Given the description of an element on the screen output the (x, y) to click on. 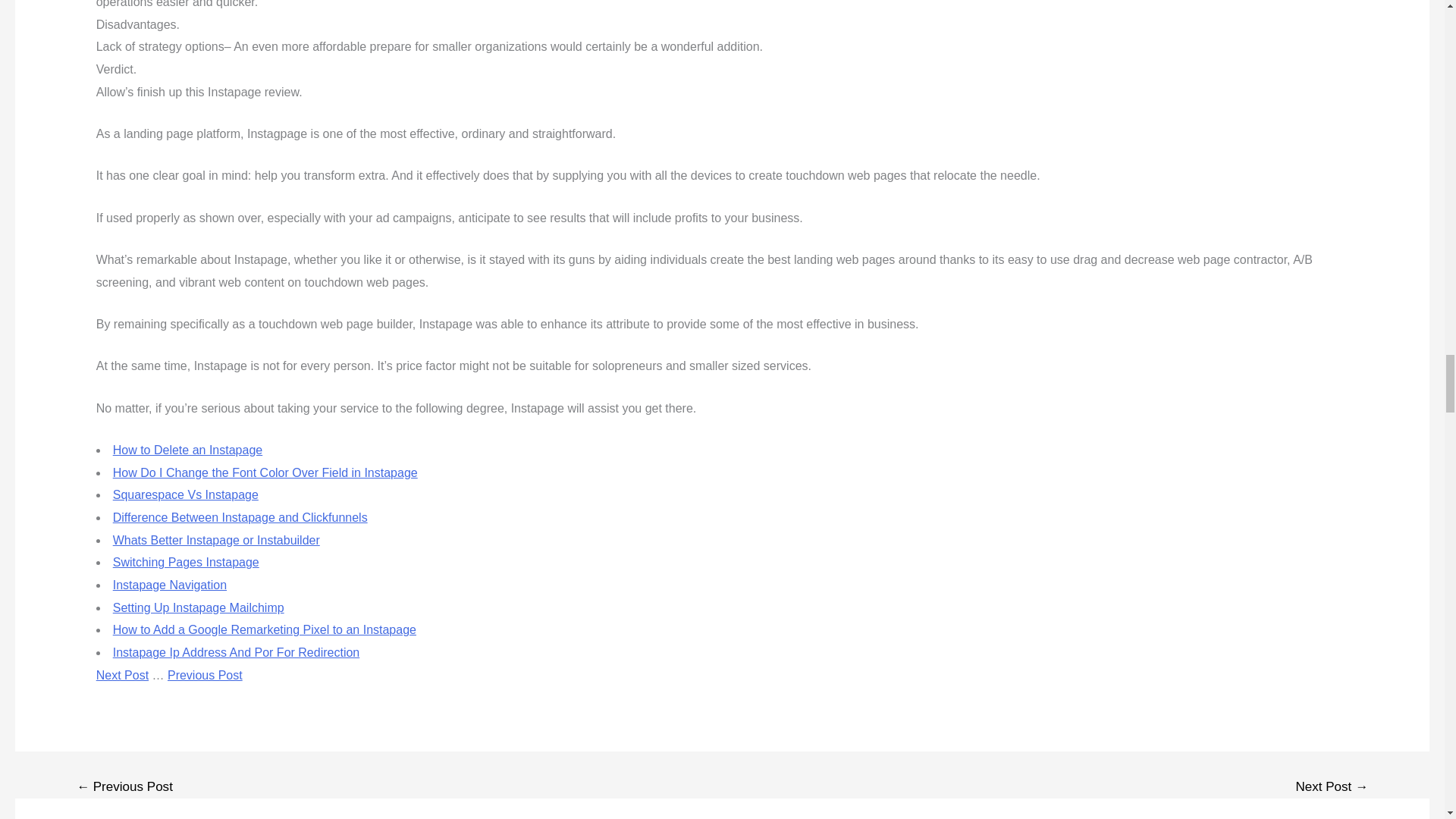
Switching Pages Instapage (186, 562)
How to Delete an Instapage (187, 449)
How to Add a Google Remarketing Pixel to an Instapage (264, 629)
Instapage Ip Address And Por For Redirection (236, 652)
How to Delete an Instapage (187, 449)
Squarespace Vs Instapage (186, 494)
Switching Pages Instapage (186, 562)
Setting Up Instapage Mailchimp (198, 607)
Setting Up Instapage Mailchimp (198, 607)
Whats Better Instapage or Instabuilder (216, 540)
